Given the description of an element on the screen output the (x, y) to click on. 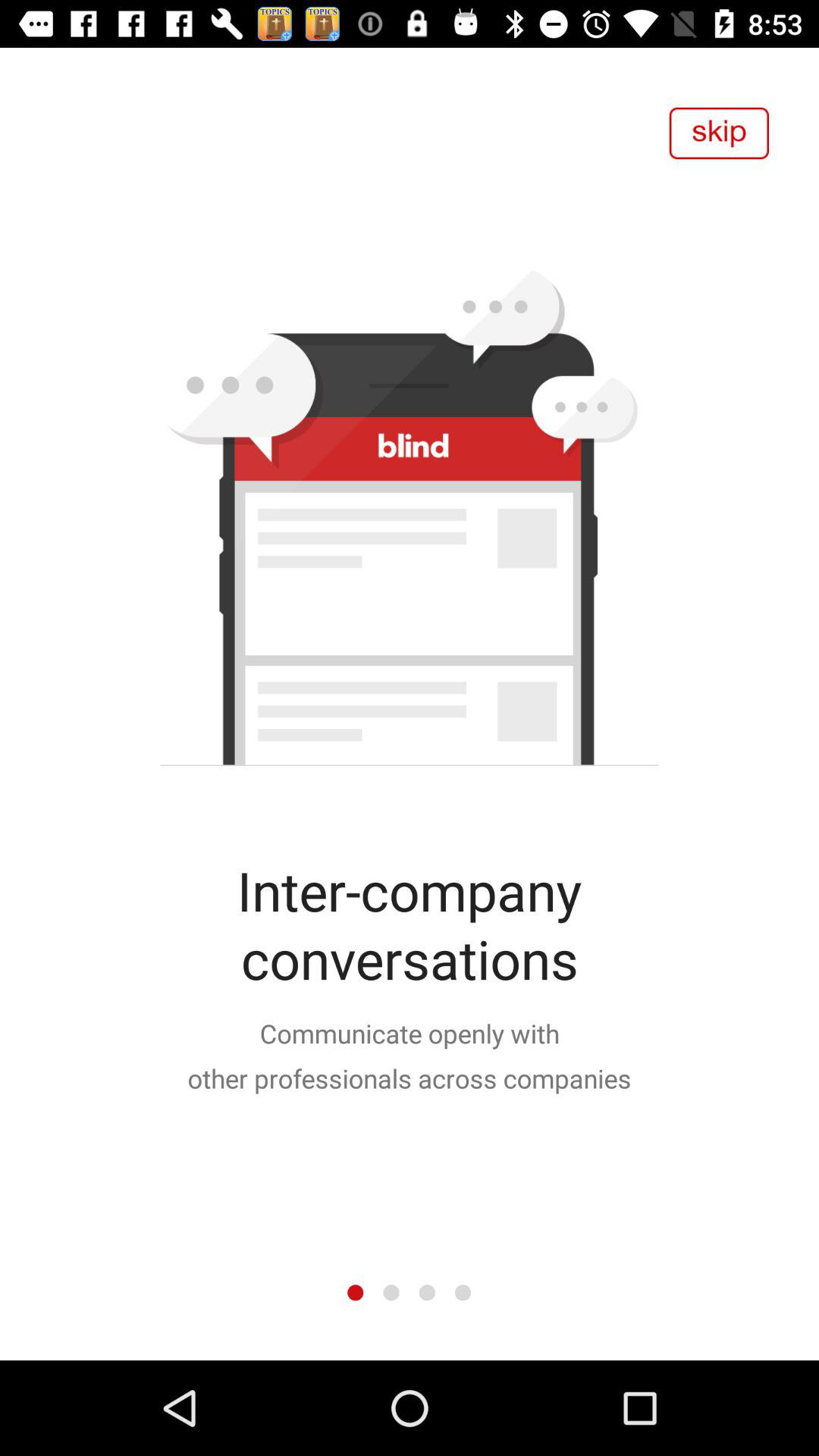
skip content (718, 133)
